Given the description of an element on the screen output the (x, y) to click on. 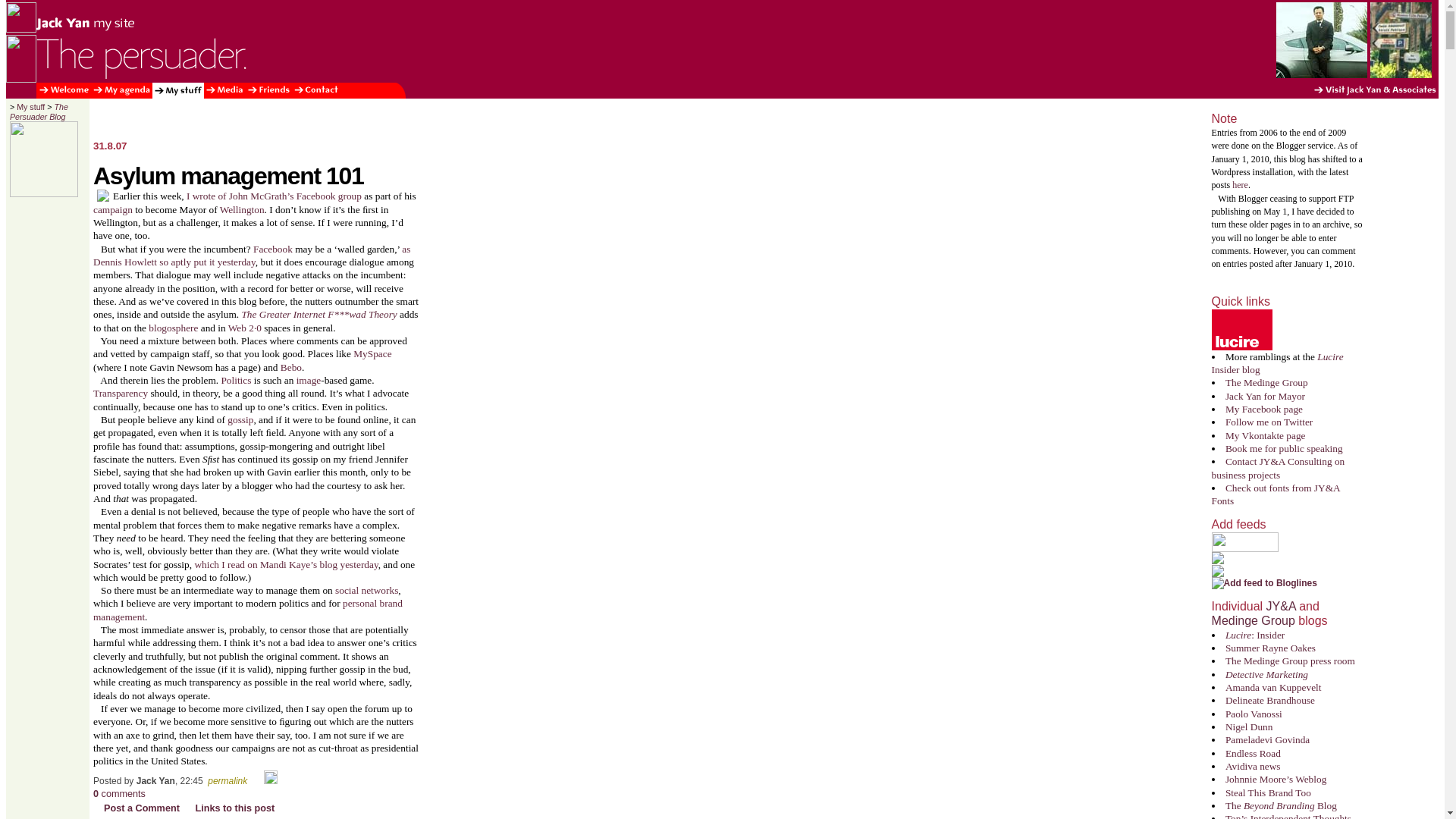
Politics (235, 379)
My stuff (30, 106)
Post a Comment (136, 808)
as Dennis Howlett so aptly put it yesterday (251, 255)
Bebo (291, 367)
Wellington (241, 209)
gossip (240, 419)
personal (359, 603)
Links to this post (229, 808)
brand management (248, 609)
The Persuader Blog (39, 111)
social networks (365, 590)
Edit Post (270, 780)
MySpace (372, 353)
permalink (227, 780)
